Given the description of an element on the screen output the (x, y) to click on. 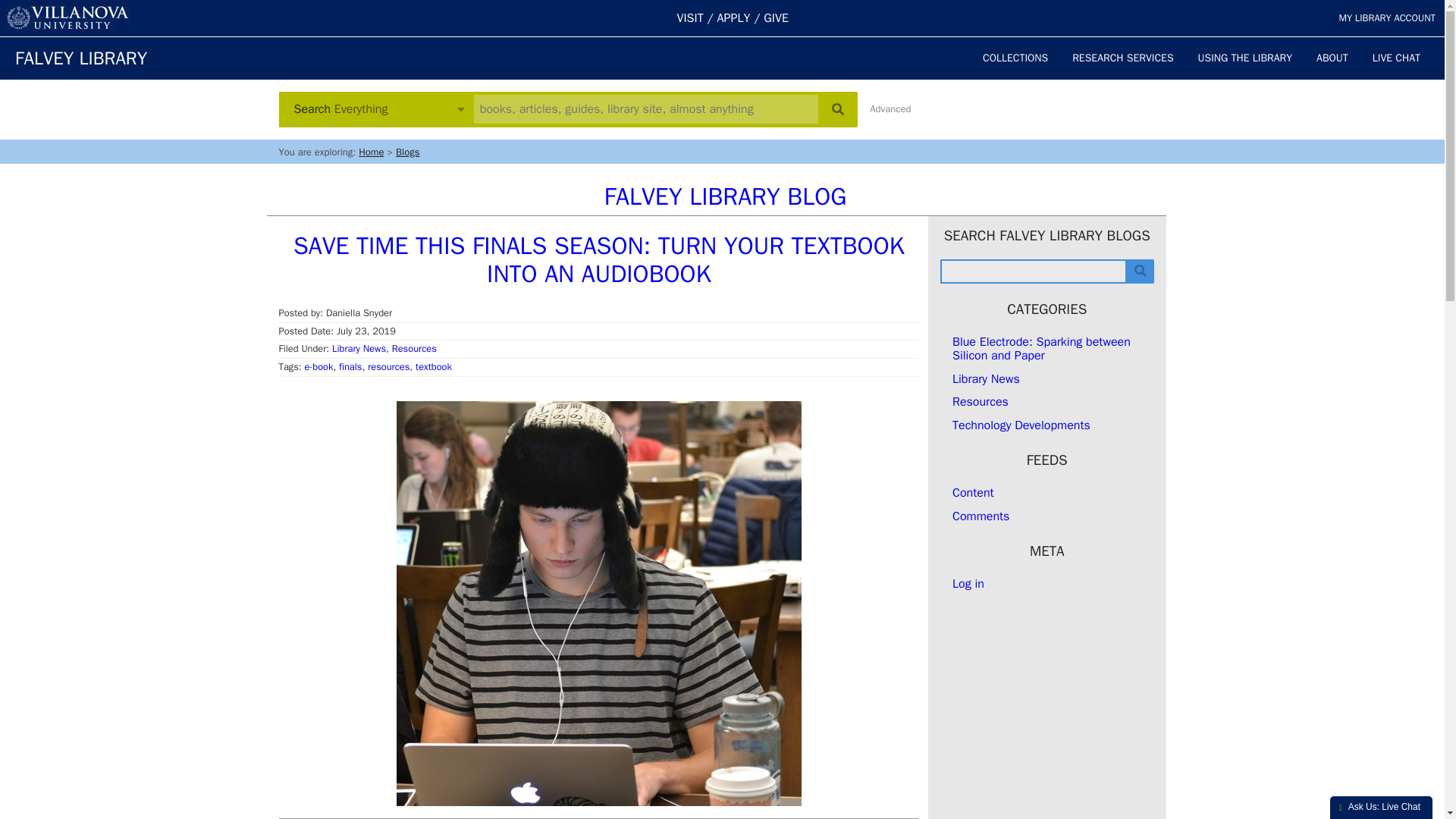
COLLECTIONS (1015, 57)
VISIT (690, 17)
Syndicate this site using RSS (973, 492)
MY LIBRARY ACCOUNT (1386, 18)
The latest comments to all posts in RSS (980, 516)
RESEARCH SERVICES (1122, 57)
APPLY (734, 17)
GIVE (775, 17)
